Given the description of an element on the screen output the (x, y) to click on. 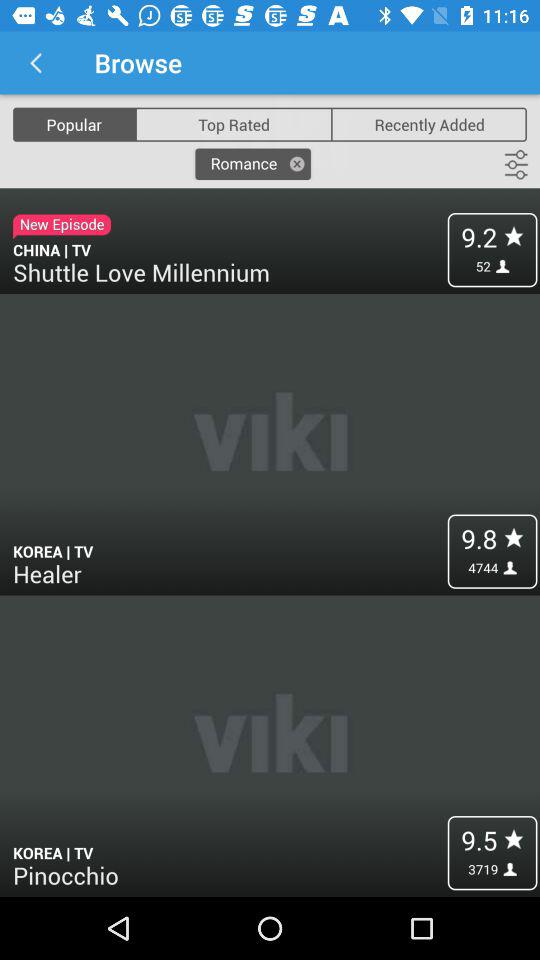
select recently added (429, 124)
